Given the description of an element on the screen output the (x, y) to click on. 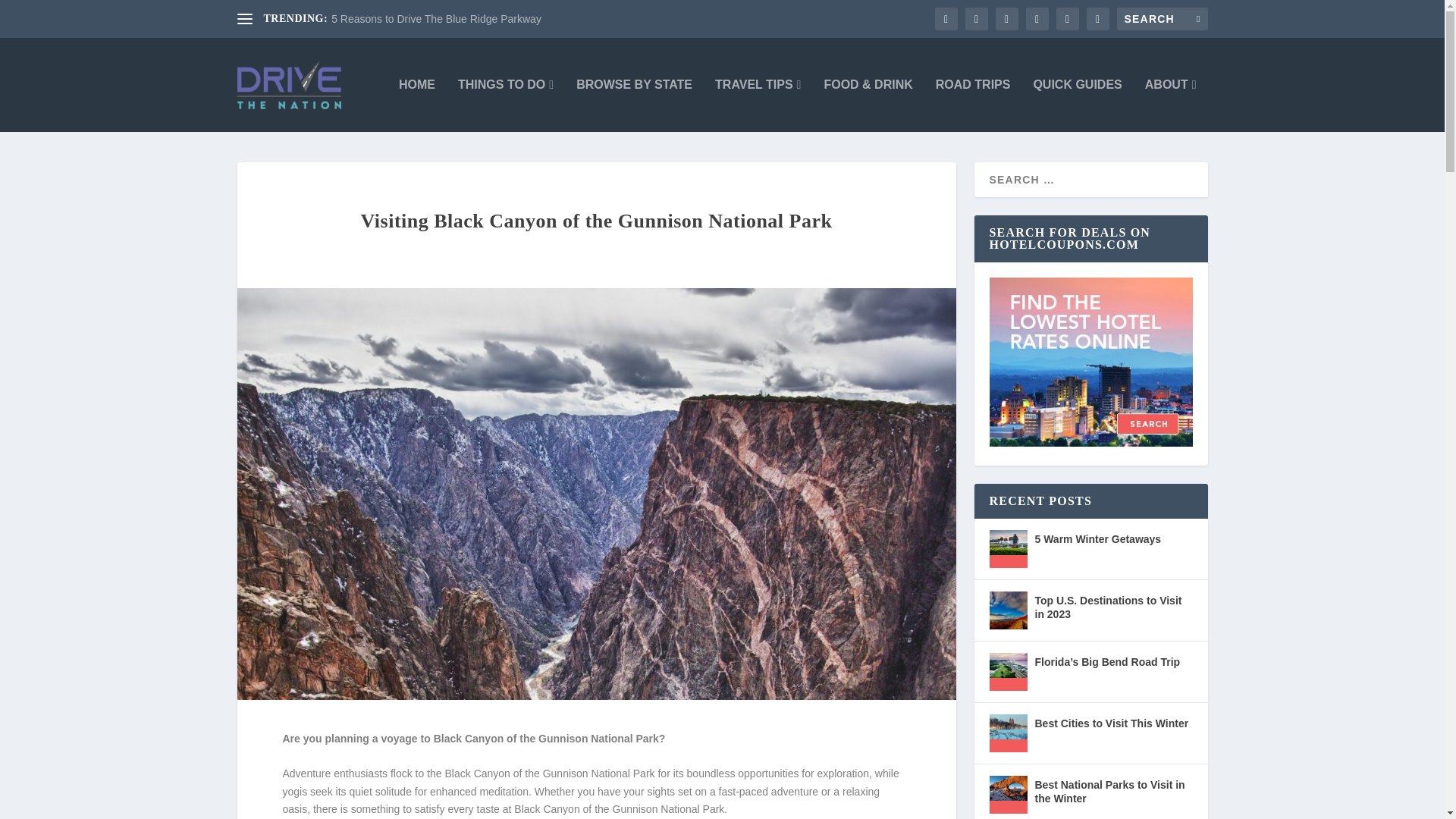
5 Reasons to Drive The Blue Ridge Parkway (436, 19)
ROAD TRIPS (973, 104)
THINGS TO DO (505, 104)
Search for: (1161, 18)
QUICK GUIDES (1076, 104)
TRAVEL TIPS (757, 104)
BROWSE BY STATE (634, 104)
